Given the description of an element on the screen output the (x, y) to click on. 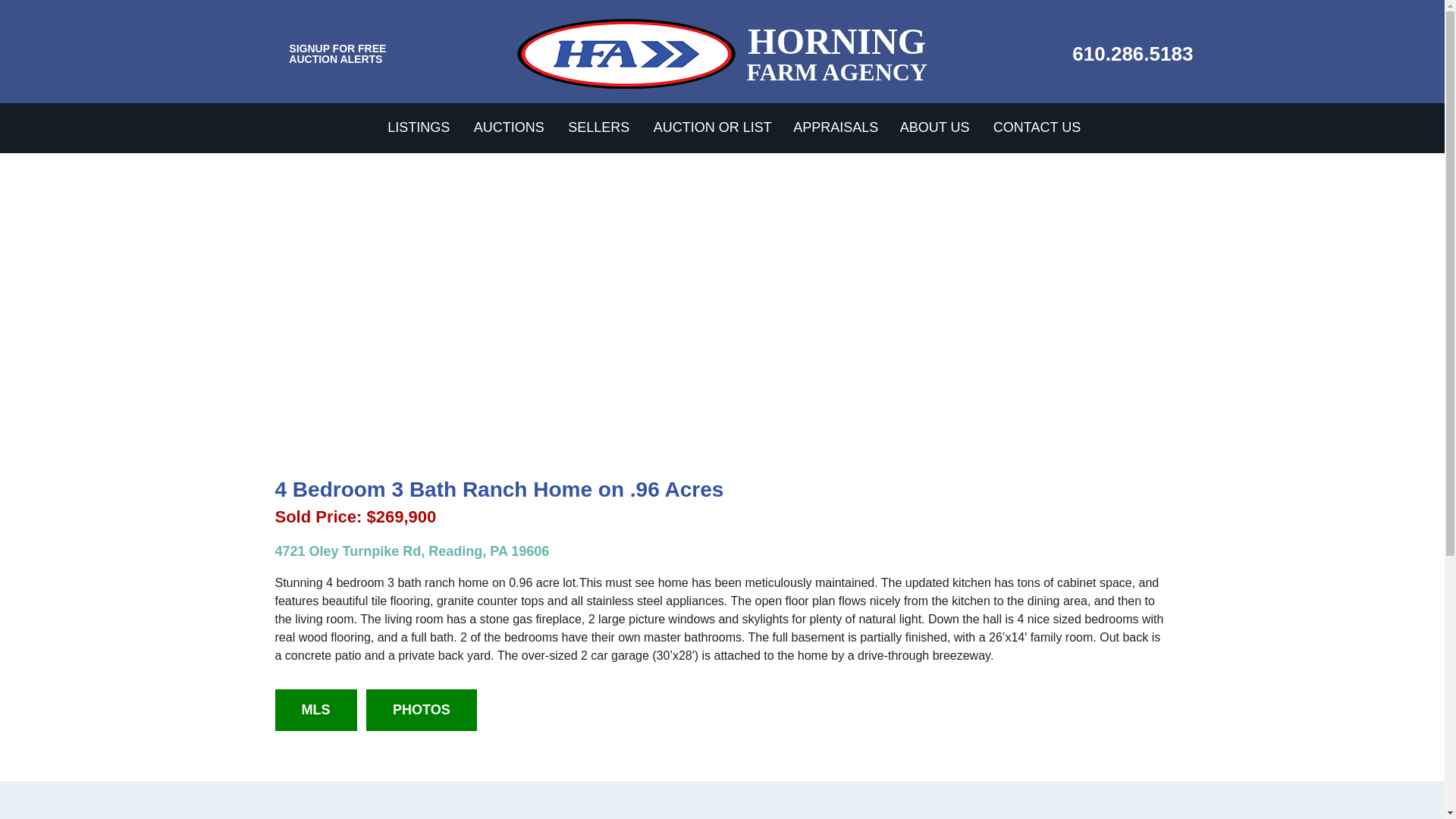
LISTINGS (419, 127)
AUCTIONS (510, 127)
CONTACT US (1036, 127)
610.286.5183 (1131, 53)
SIGNUP FOR FREE AUCTION ALERTS (336, 53)
ABOUT US (935, 127)
AUCTION OR LIST (712, 127)
SELLERS (599, 127)
APPRAISALS (835, 127)
